Given the description of an element on the screen output the (x, y) to click on. 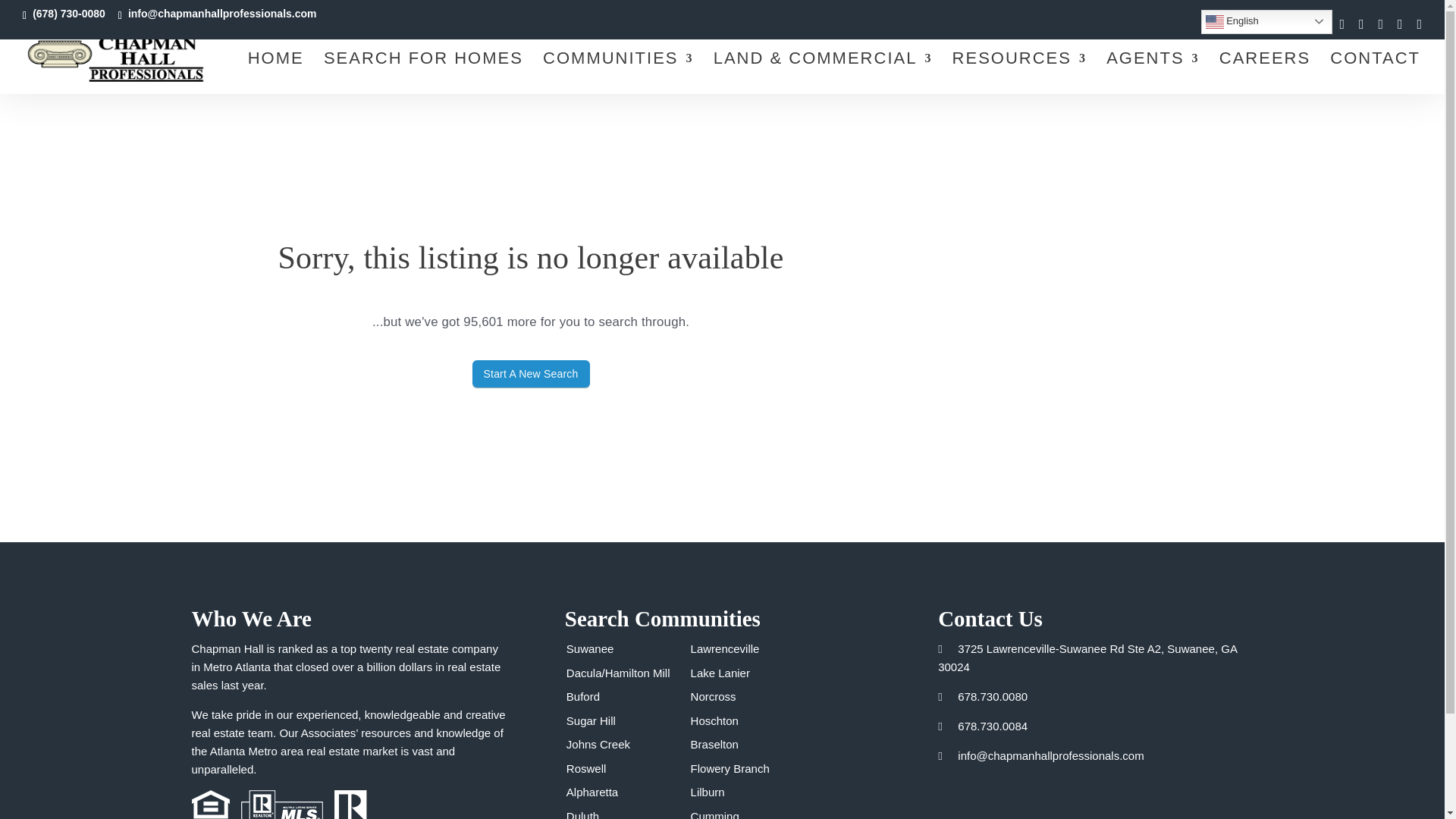
English (1266, 21)
COMMUNITIES (618, 73)
RESOURCES (1019, 73)
HOME (275, 73)
AGENTS (1152, 73)
CAREERS (1265, 73)
SEARCH FOR HOMES (422, 73)
